Given the description of an element on the screen output the (x, y) to click on. 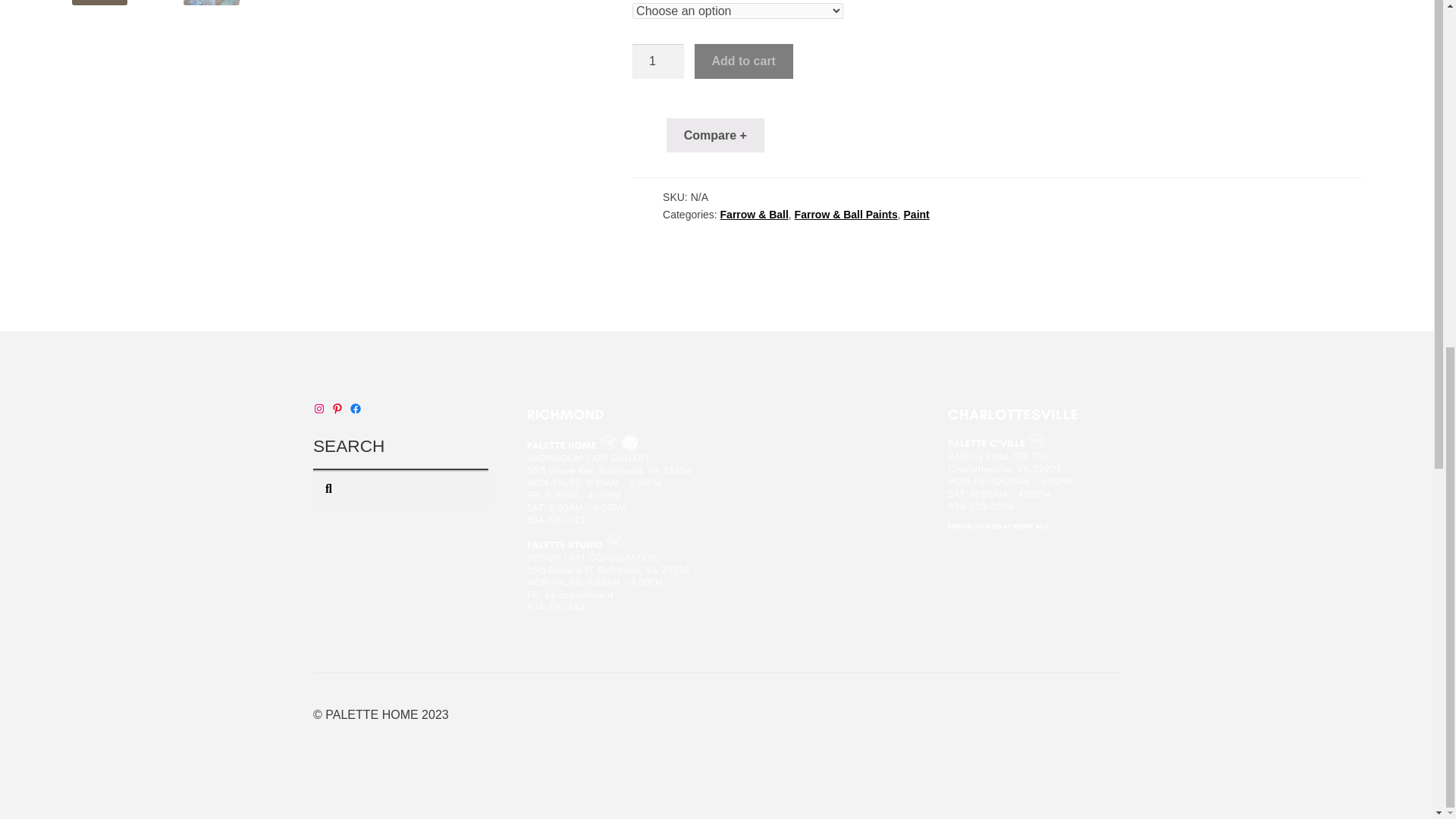
1 (657, 61)
